Given the description of an element on the screen output the (x, y) to click on. 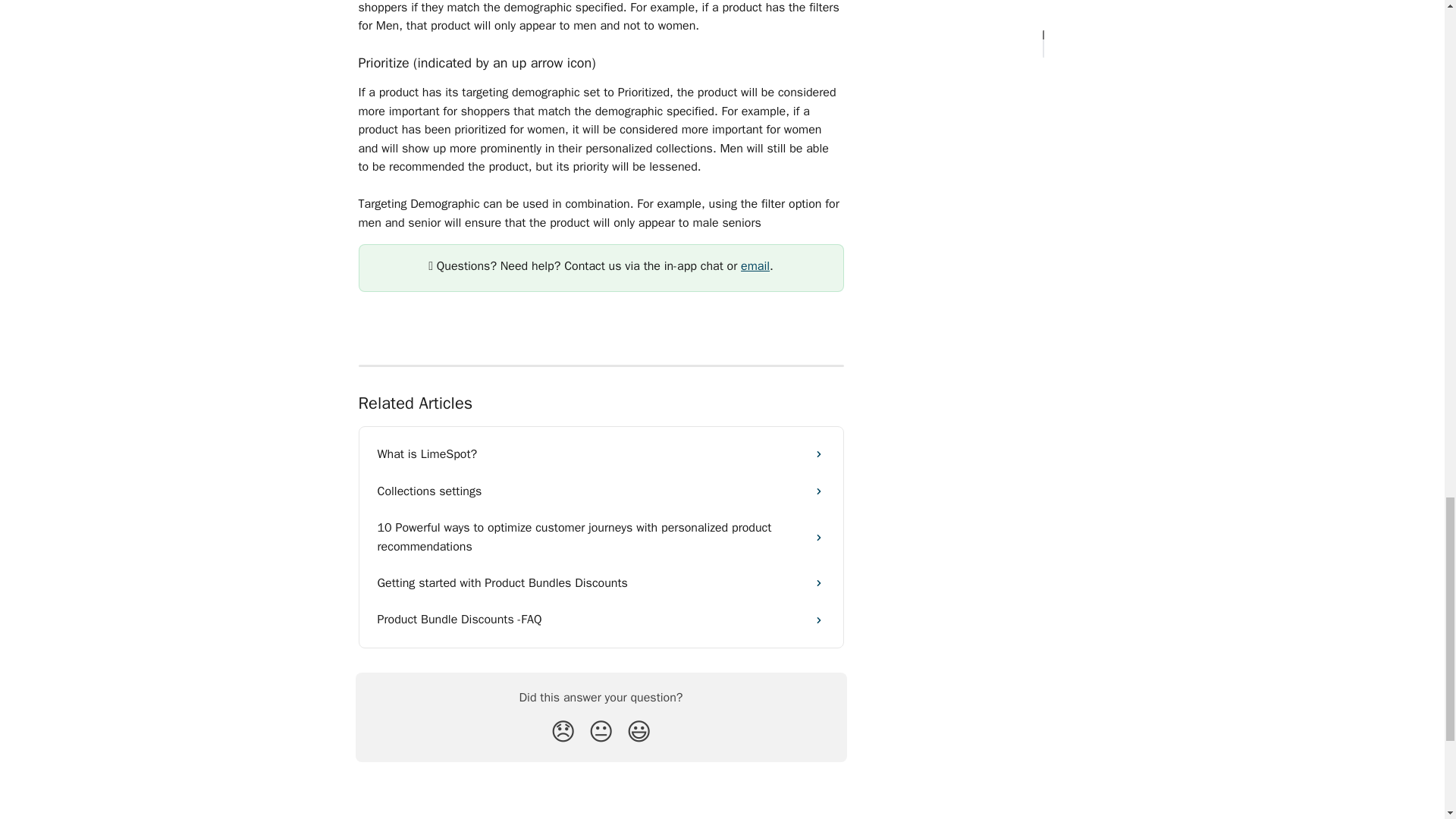
Disappointed (562, 730)
Getting started with Product Bundles Discounts (601, 583)
Smiley (638, 730)
Product Bundle Discounts -FAQ (601, 619)
What is LimeSpot? (601, 453)
Collections settings (601, 491)
Neutral (600, 730)
email (755, 265)
